Given the description of an element on the screen output the (x, y) to click on. 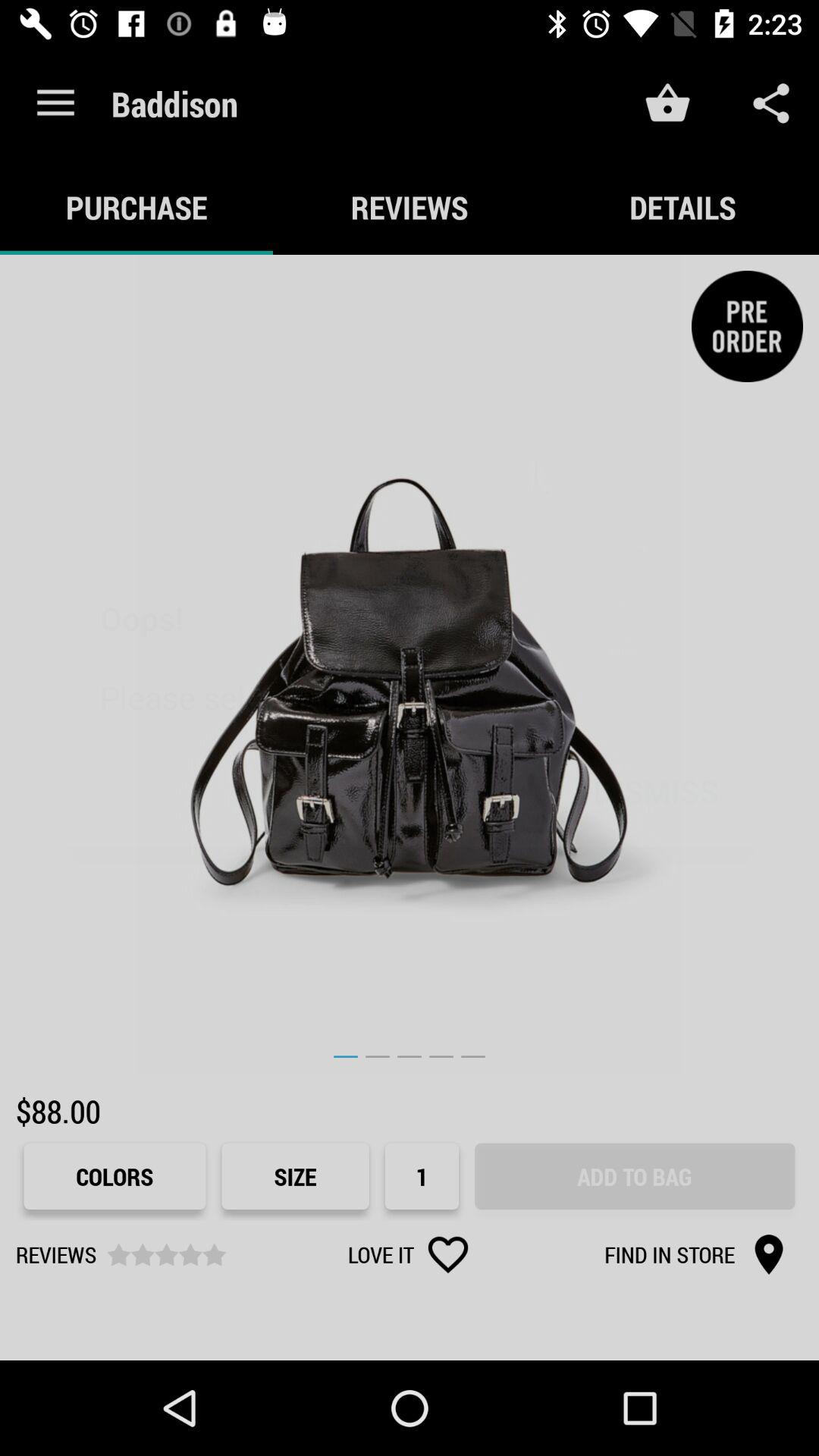
share (771, 103)
select the option next to size (421, 1176)
